Given the description of an element on the screen output the (x, y) to click on. 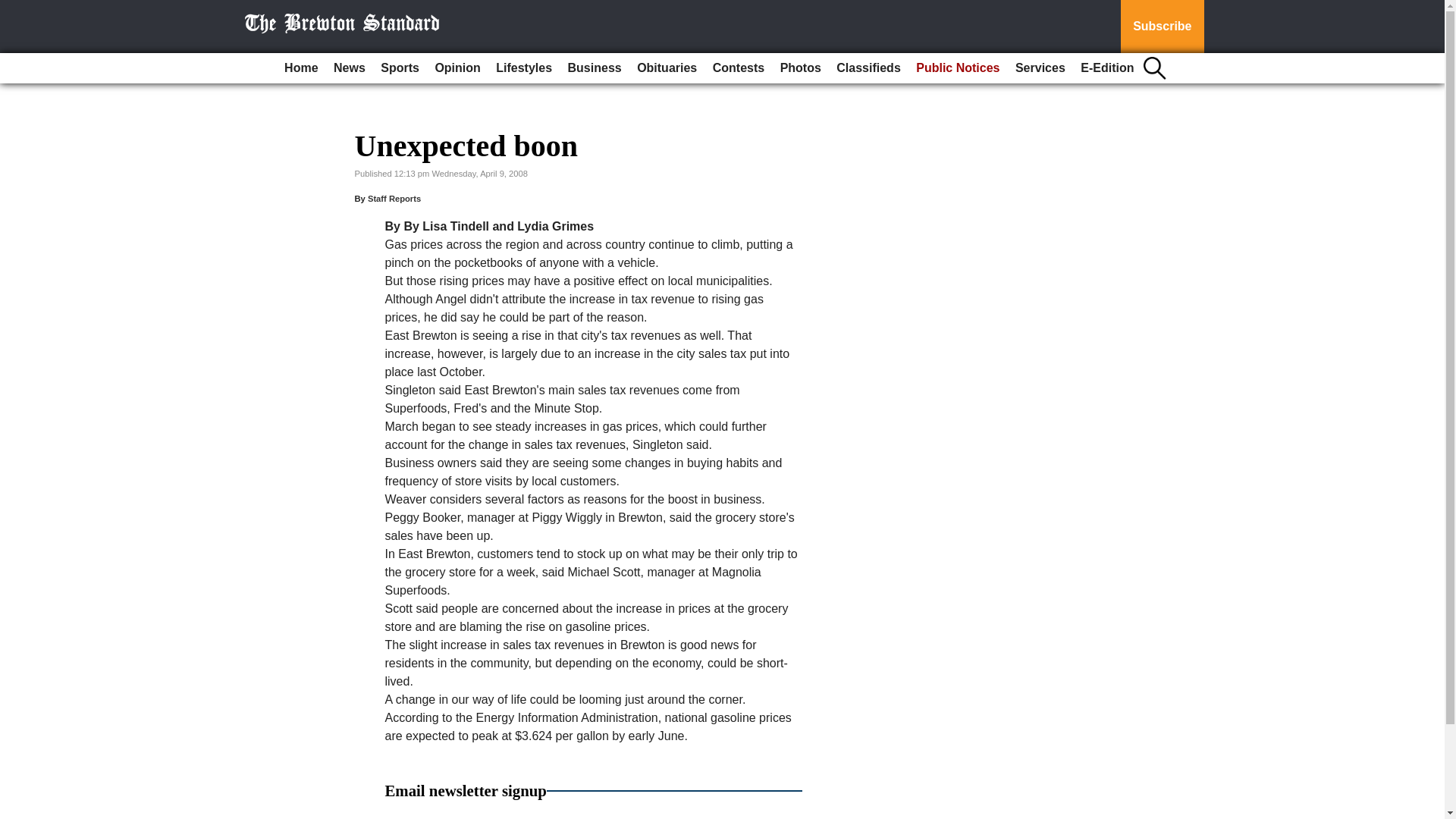
Business (594, 68)
Subscribe (1162, 26)
E-Edition (1107, 68)
Contests (738, 68)
Sports (399, 68)
Services (1040, 68)
Go (13, 9)
Lifestyles (523, 68)
News (349, 68)
Classifieds (867, 68)
Staff Reports (394, 198)
Public Notices (958, 68)
Home (300, 68)
Opinion (457, 68)
Photos (800, 68)
